Given the description of an element on the screen output the (x, y) to click on. 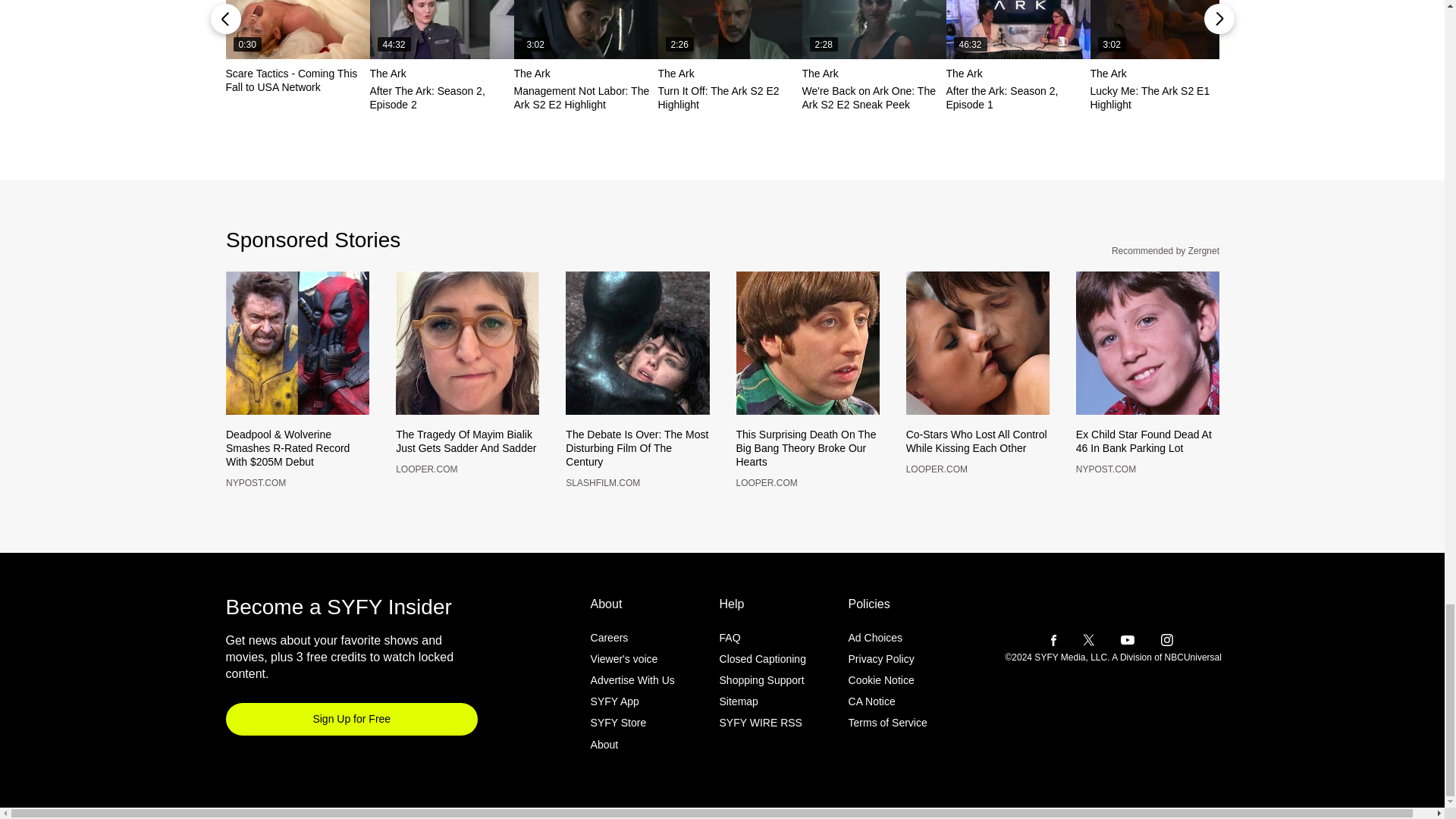
Scare Tactics - Coming This Fall to USA Network (297, 29)
After The Ark: Season 2, Episode 2 (441, 29)
Management Not Labor: The Ark S2 E2 Highlight (585, 29)
Turn It Off: The Ark S2 E2 Highlight (730, 29)
Advertise With Us (633, 705)
We're Back on Ark One: The Ark S2 E2 Sneak Peek (874, 29)
After the Ark: Season 2, Episode 1 (1018, 29)
Lucky Me: The Ark S2 E1 Highlight (1162, 29)
